Given the description of an element on the screen output the (x, y) to click on. 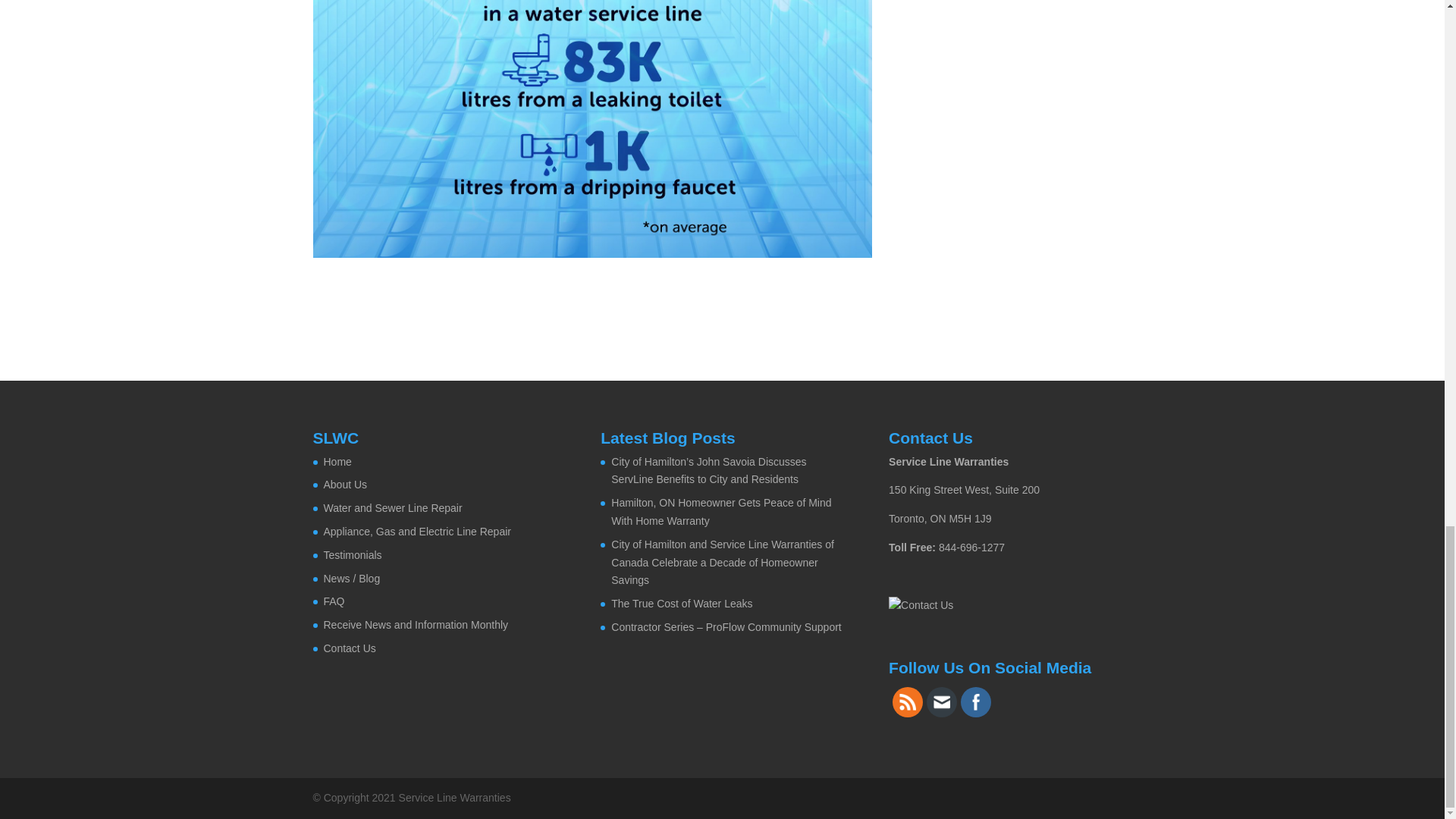
Follow by Email (941, 701)
RSS (907, 701)
Facebook (976, 701)
